Given the description of an element on the screen output the (x, y) to click on. 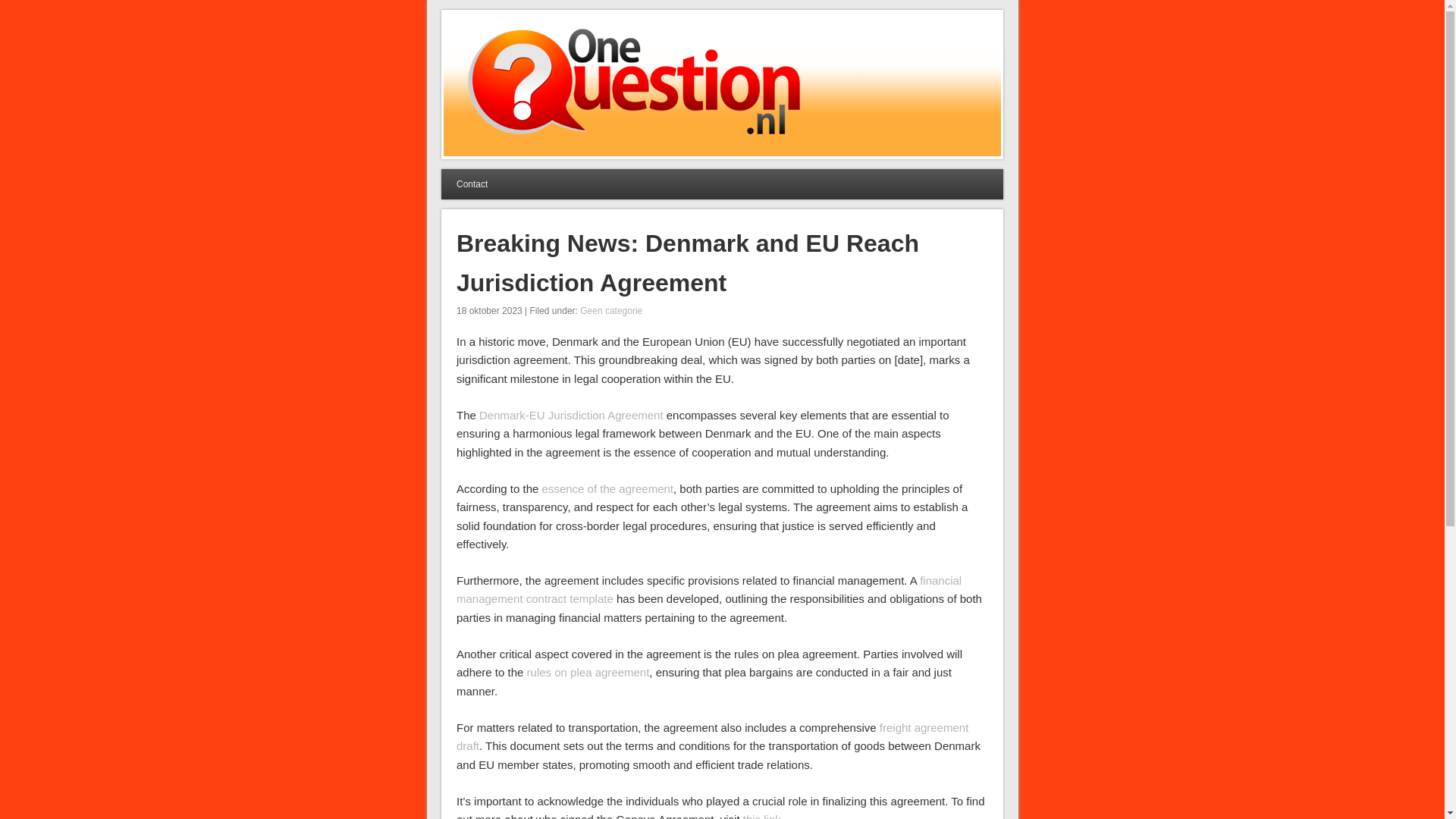
essence of the agreement (606, 488)
rules on plea agreement (588, 671)
freight agreement draft (712, 736)
Contact (471, 183)
Geen categorie (610, 310)
financial management contract template (708, 589)
OneQuestion (512, 37)
Denmark-EU Jurisdiction Agreement (571, 414)
this link (761, 816)
